Given the description of an element on the screen output the (x, y) to click on. 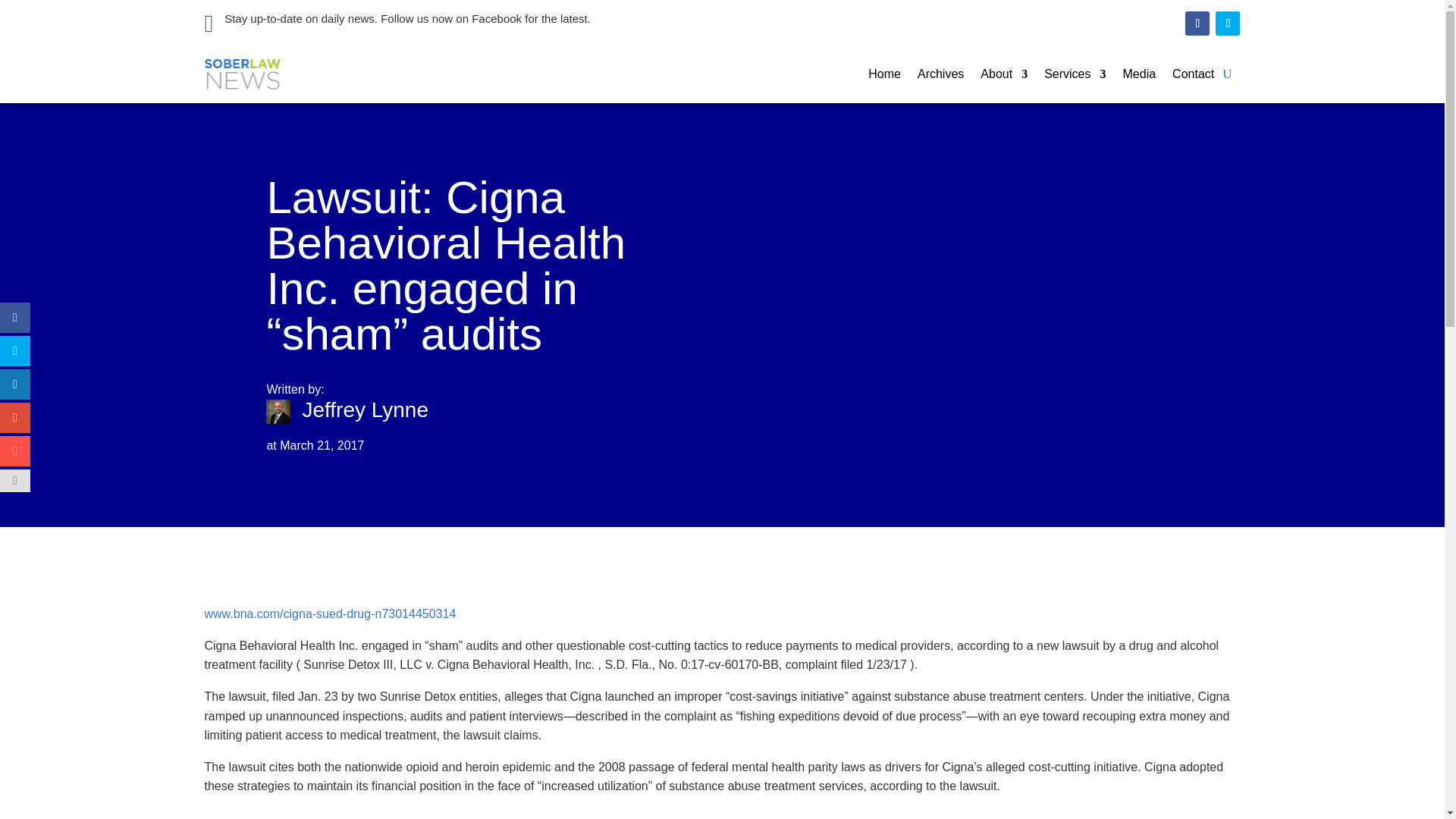
Services (1074, 74)
Follow on Facebook (1197, 23)
Follow on Twitter (1227, 23)
